Given the description of an element on the screen output the (x, y) to click on. 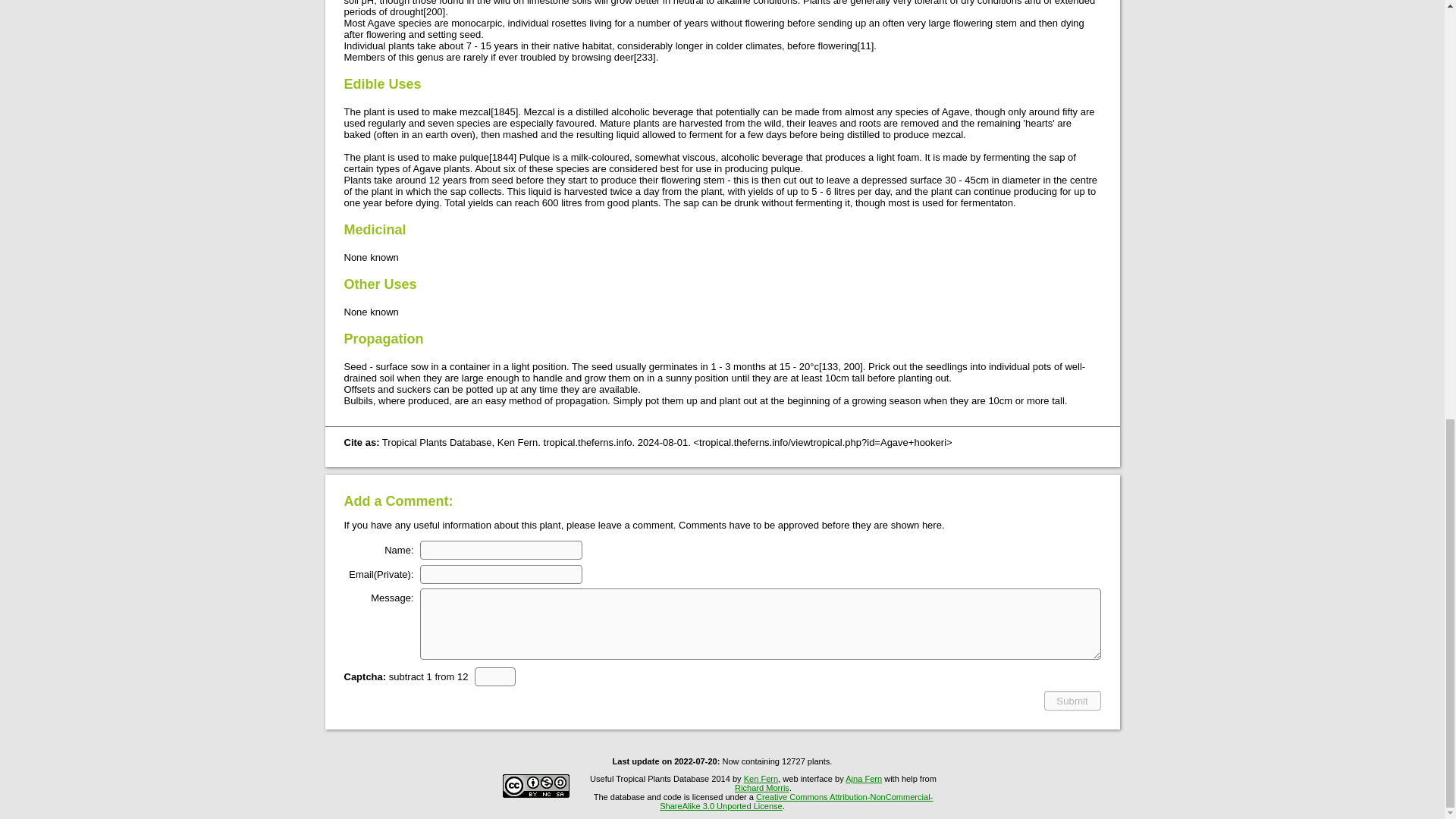
Submit (1071, 700)
1844 (502, 156)
1845 (504, 111)
200 (851, 366)
133 (830, 366)
11 (865, 45)
Submit (1071, 700)
233 (644, 57)
Ken Fern (760, 777)
Ajna Fern (863, 777)
200 (434, 11)
